Given the description of an element on the screen output the (x, y) to click on. 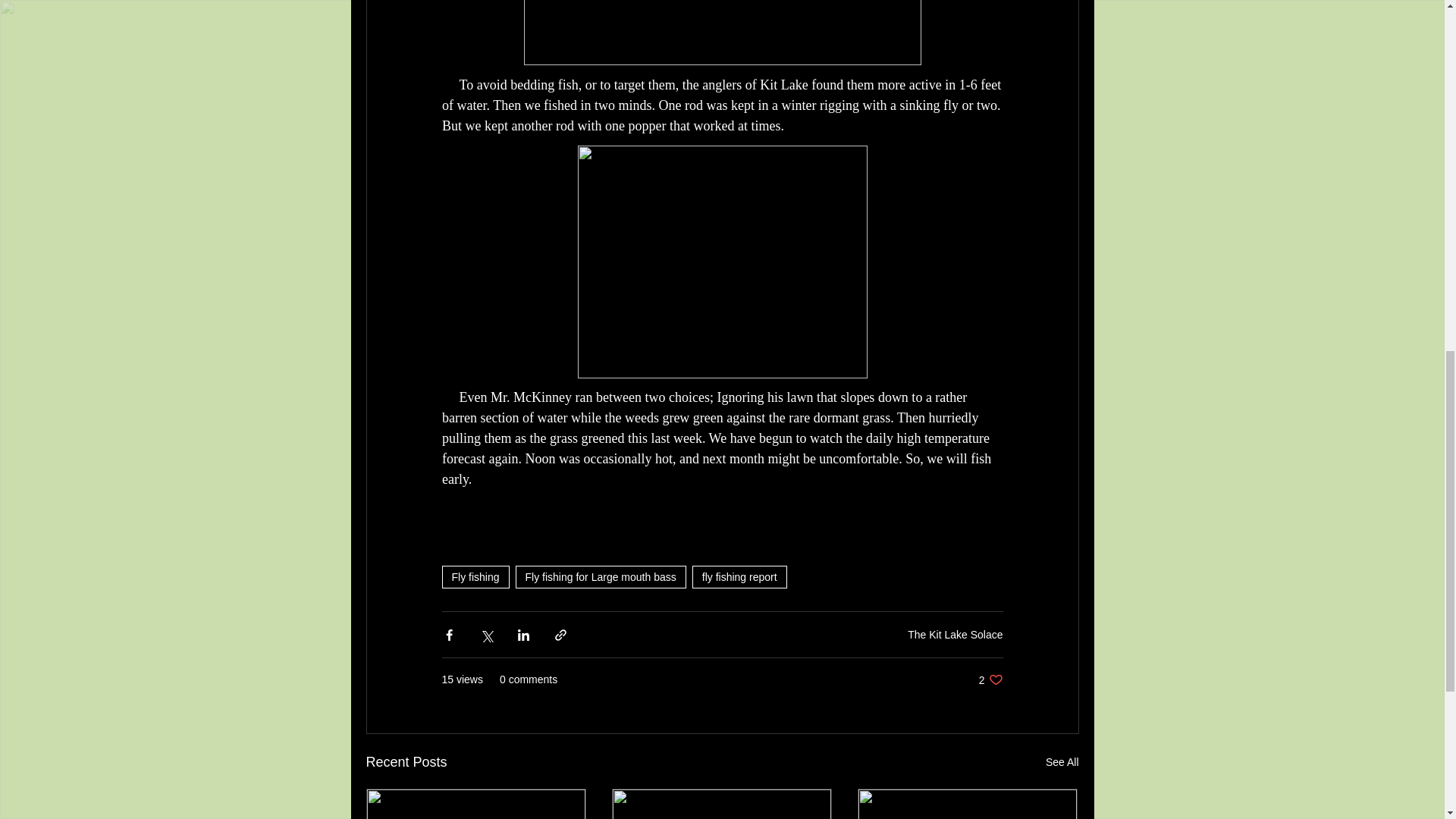
fly fishing report (740, 576)
See All (990, 679)
Fly fishing for Large mouth bass (1061, 762)
The Kit Lake Solace (600, 576)
Fly fishing (955, 634)
